Given the description of an element on the screen output the (x, y) to click on. 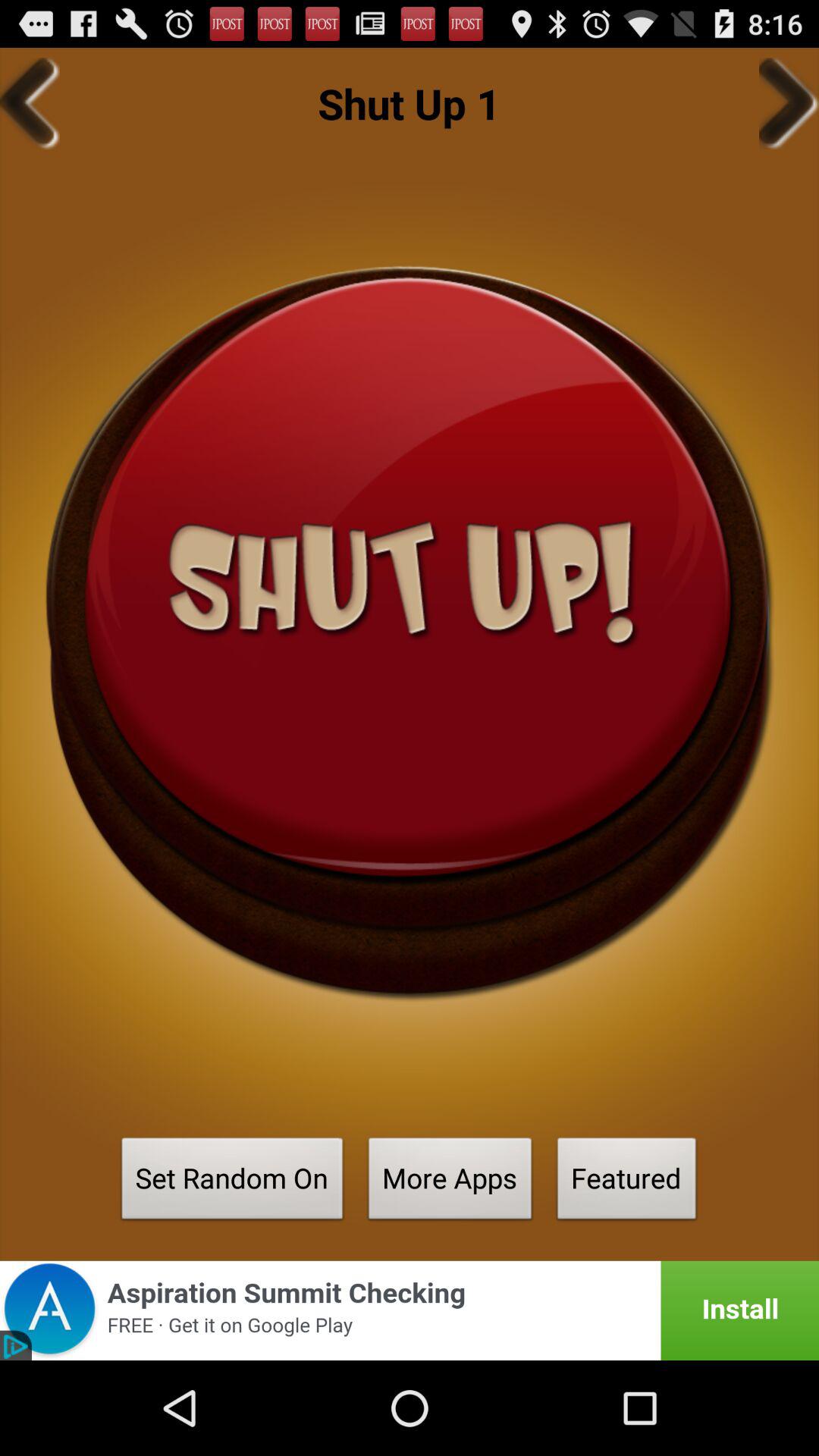
tell people to shut up (409, 632)
